Given the description of an element on the screen output the (x, y) to click on. 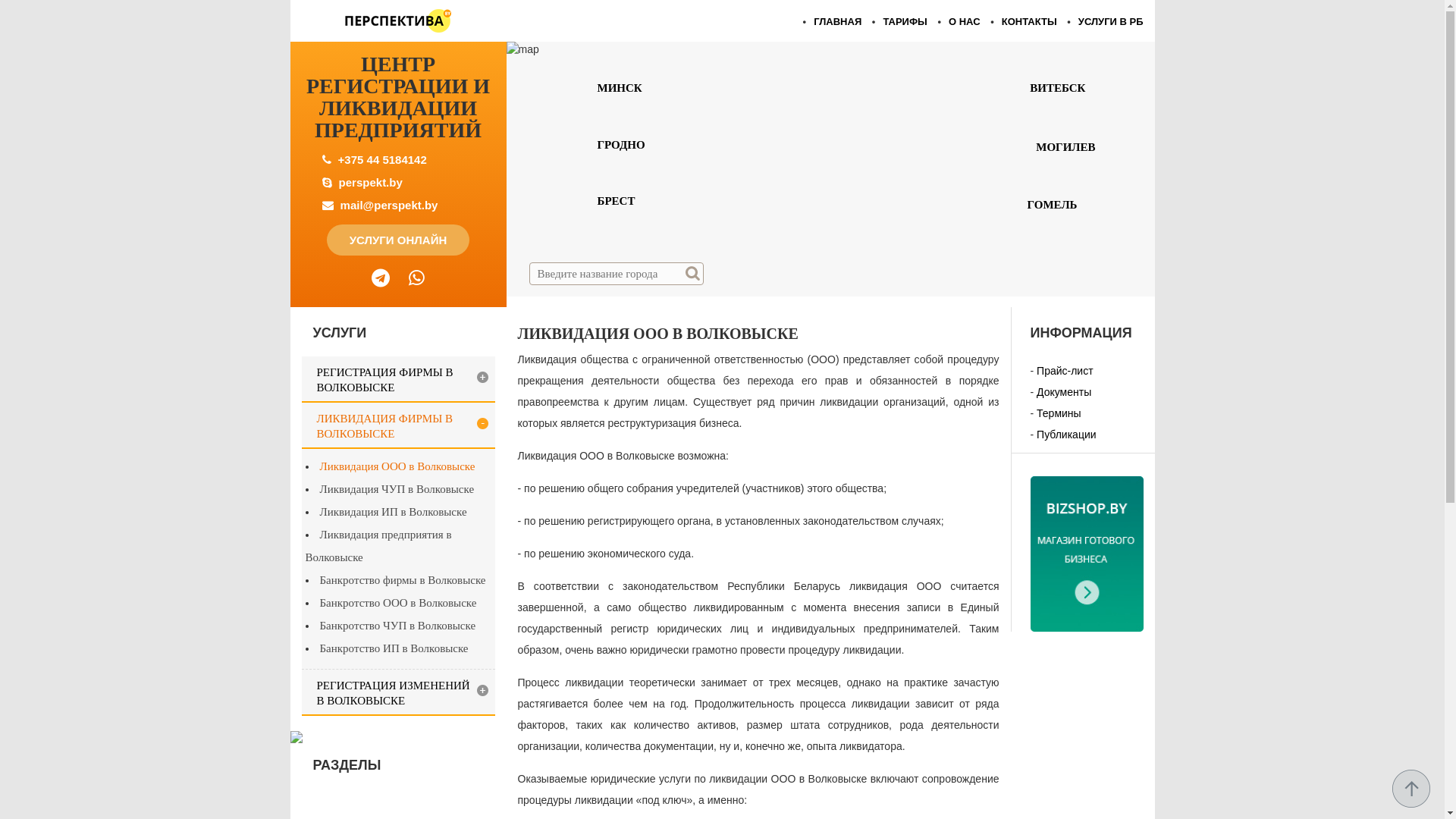
perspekt.by Element type: text (370, 181)
mail@perspekt.by Element type: text (389, 204)
Go Top Element type: hover (1411, 788)
